Given the description of an element on the screen output the (x, y) to click on. 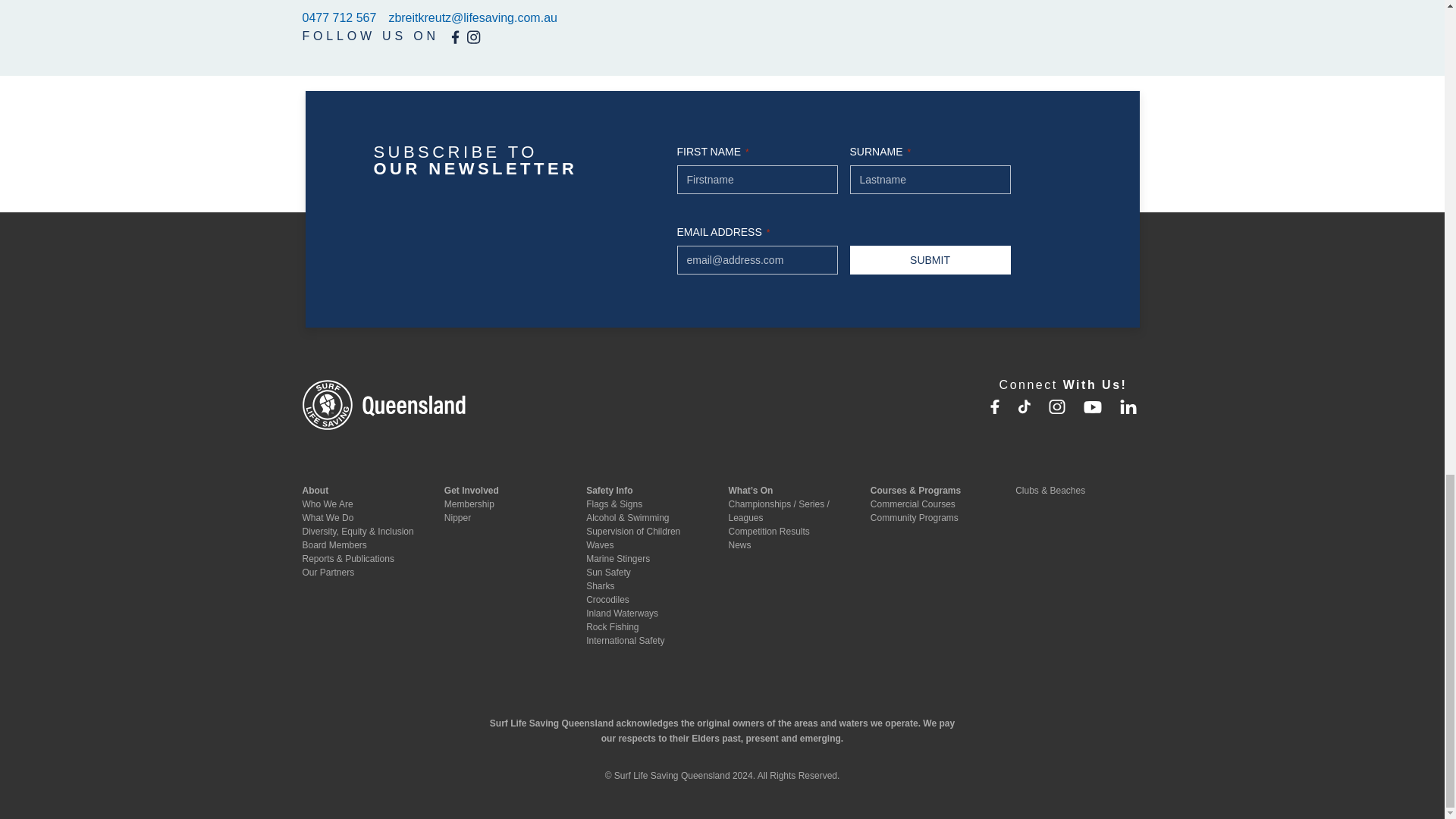
Submit (929, 259)
